Given the description of an element on the screen output the (x, y) to click on. 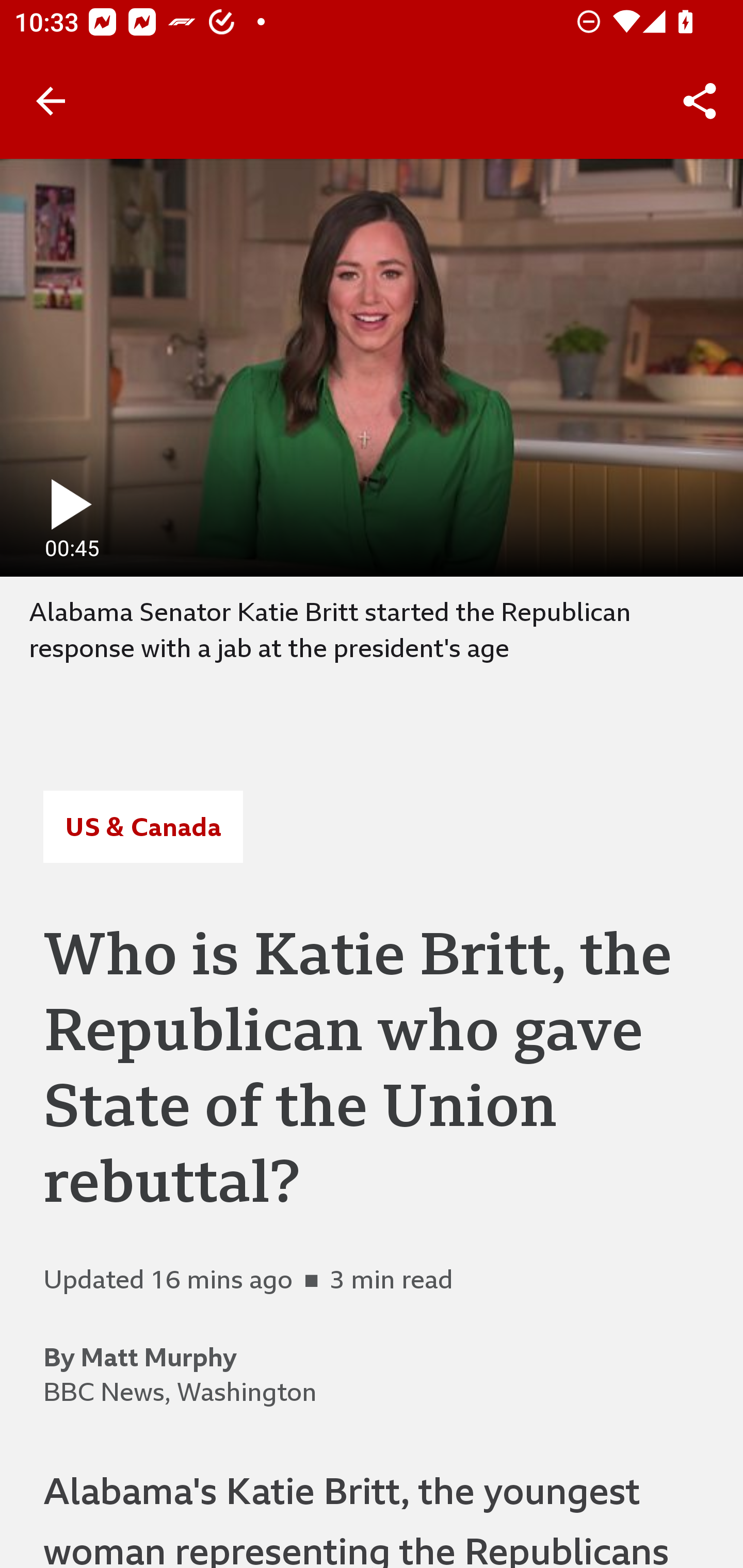
Back (50, 101)
Share (699, 101)
play fullscreen 00:45 0 minutes, 45 seconds (371, 367)
US & Canada (142, 827)
